Given the description of an element on the screen output the (x, y) to click on. 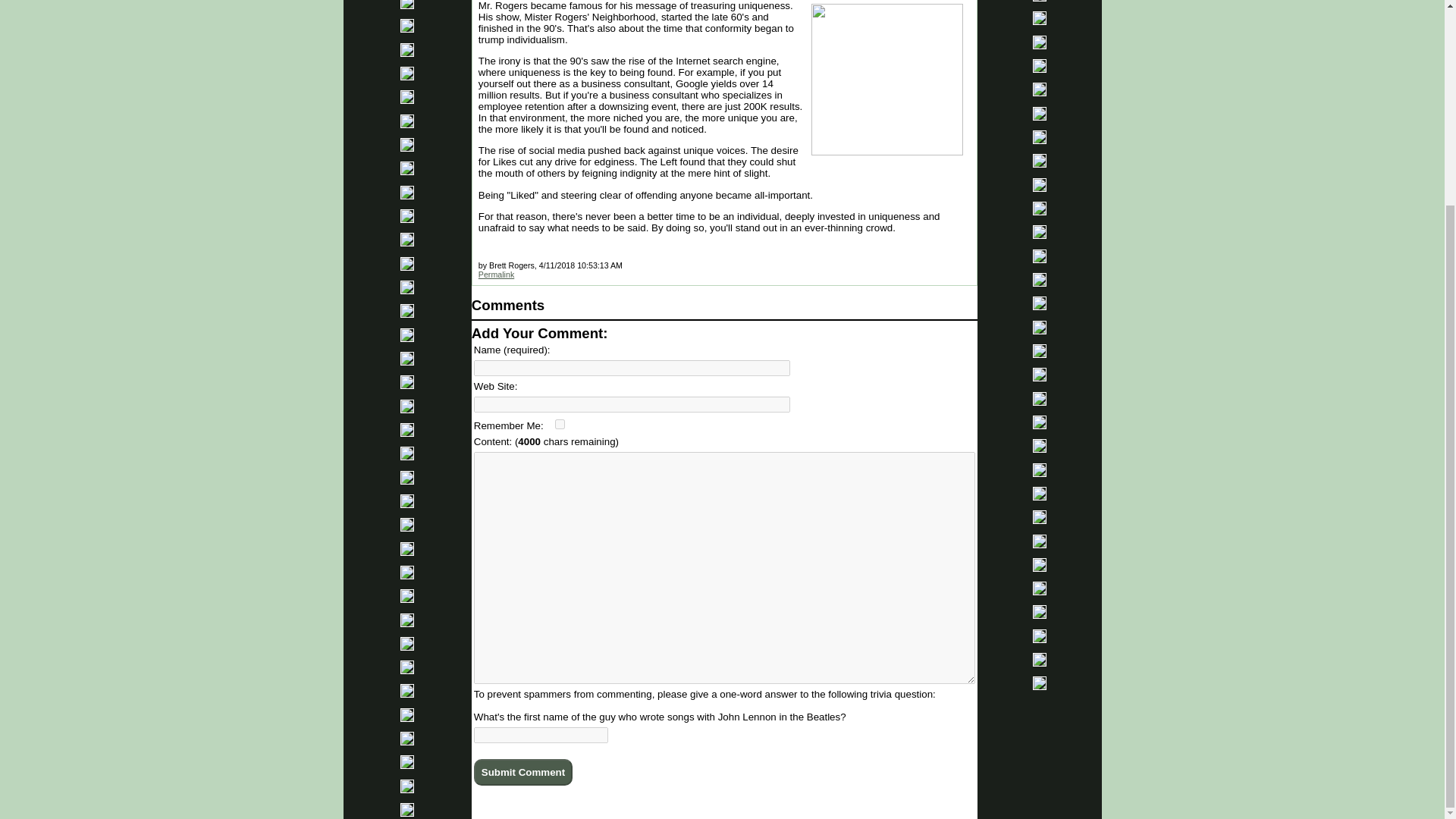
Submit Comment (523, 772)
Permalink (496, 274)
Submit Comment (523, 772)
okay (559, 424)
